Given the description of an element on the screen output the (x, y) to click on. 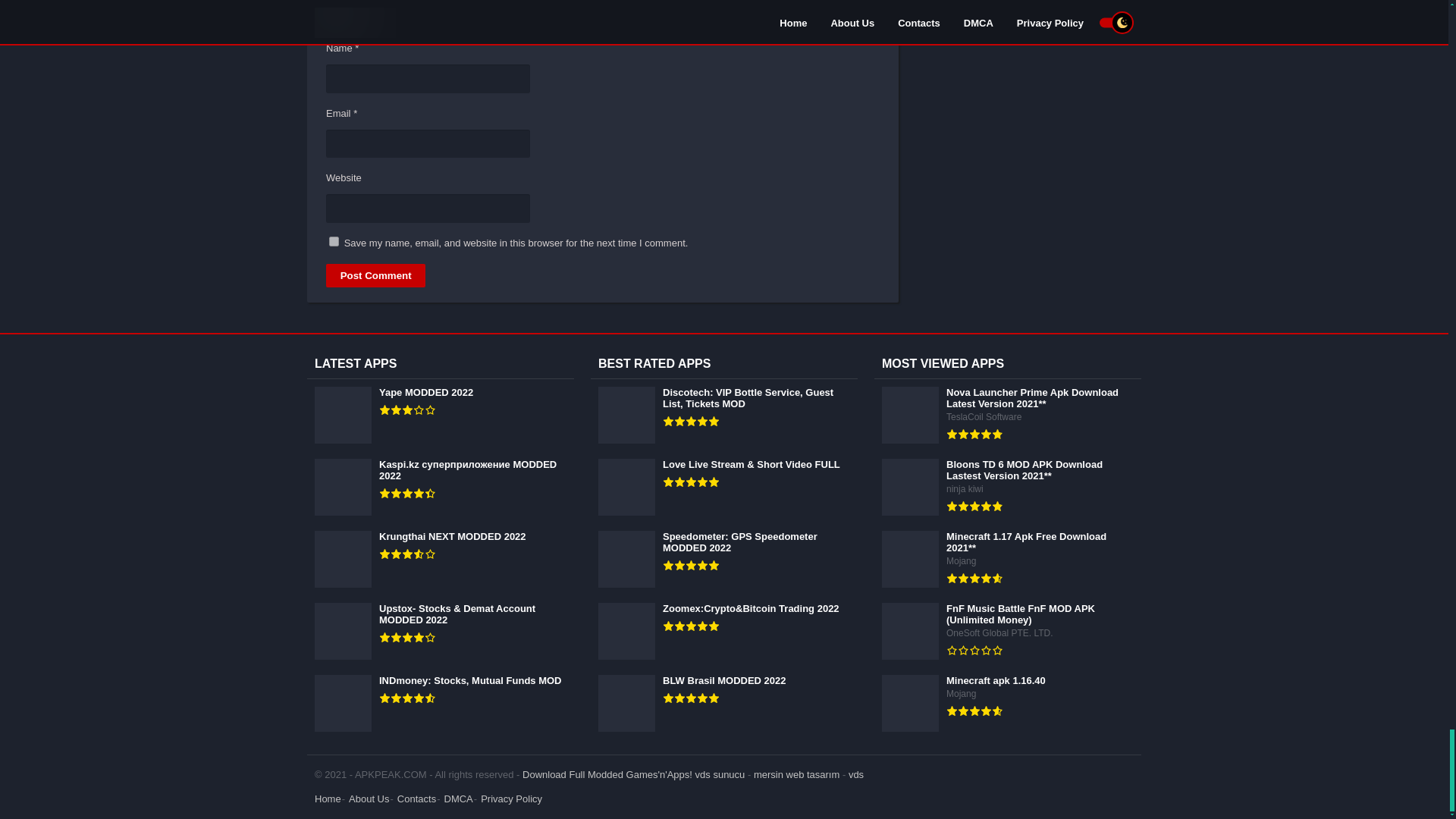
Post Comment (375, 275)
vds (855, 774)
yes (334, 241)
vds sunucu (720, 774)
